Given the description of an element on the screen output the (x, y) to click on. 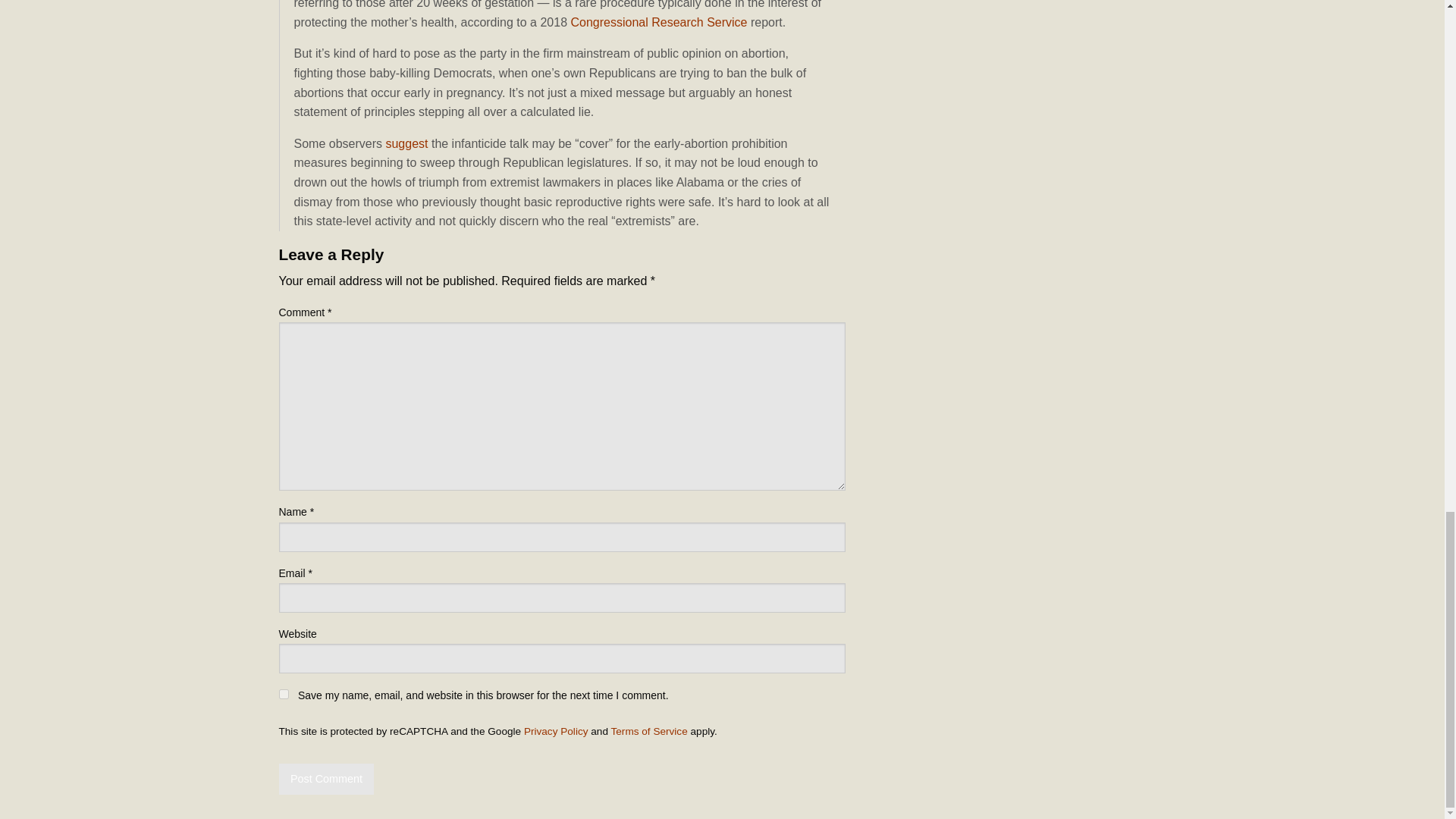
Terms of Service (649, 731)
Post Comment (326, 778)
Post Comment (326, 778)
yes (283, 694)
Privacy Policy (556, 731)
suggest (406, 143)
Congressional Research Service (658, 21)
